Given the description of an element on the screen output the (x, y) to click on. 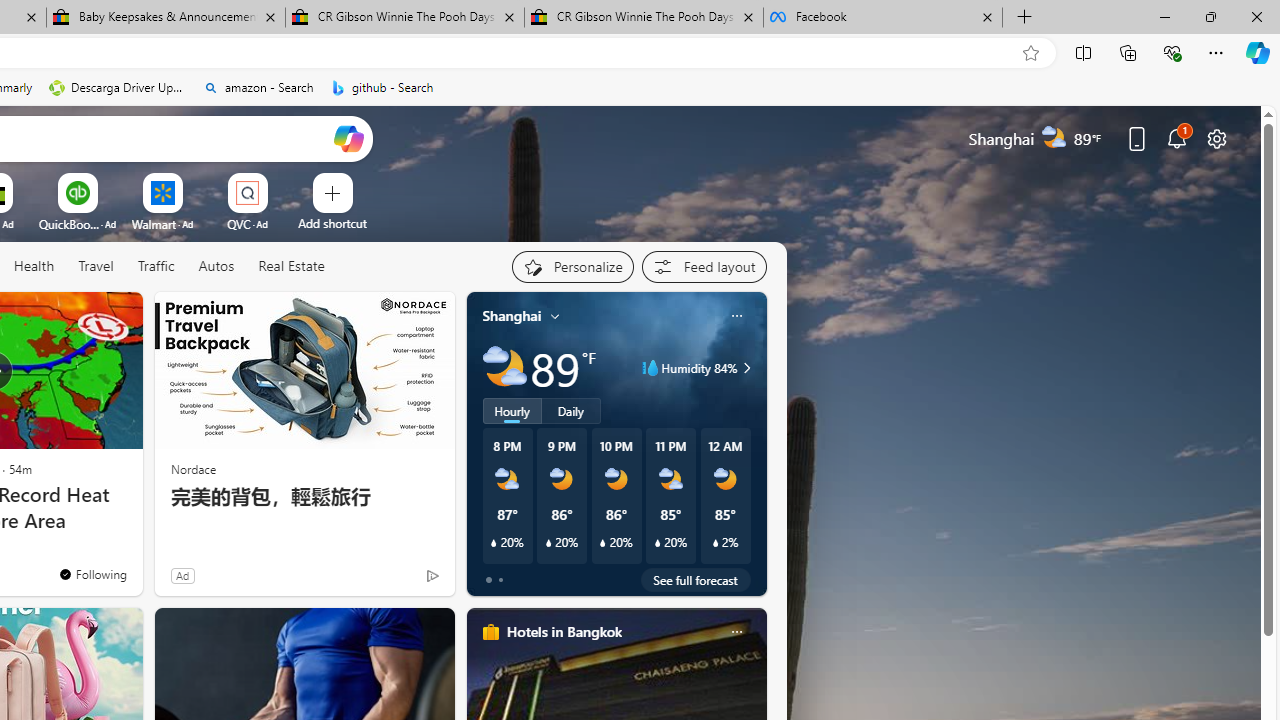
Class: weather-arrow-glyph (746, 367)
Partly cloudy (504, 368)
Ad (182, 575)
Feed settings (703, 266)
Class: icon-img (736, 632)
github - Search (381, 88)
Ad Choice (432, 575)
Traffic (155, 265)
